Given the description of an element on the screen output the (x, y) to click on. 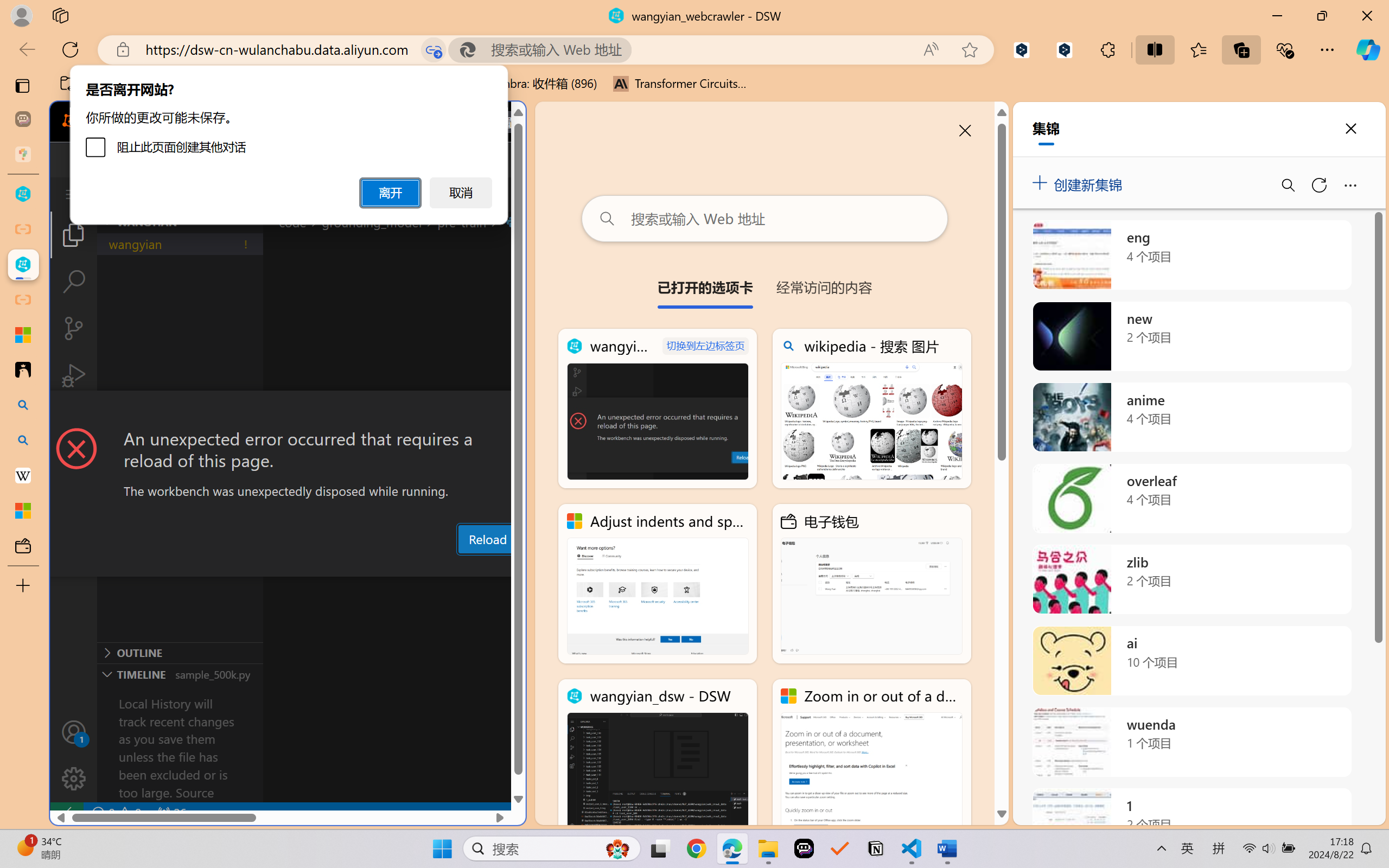
No Problems (115, 812)
Outline Section (179, 652)
Transformer Circuits Thread (680, 83)
